Given the description of an element on the screen output the (x, y) to click on. 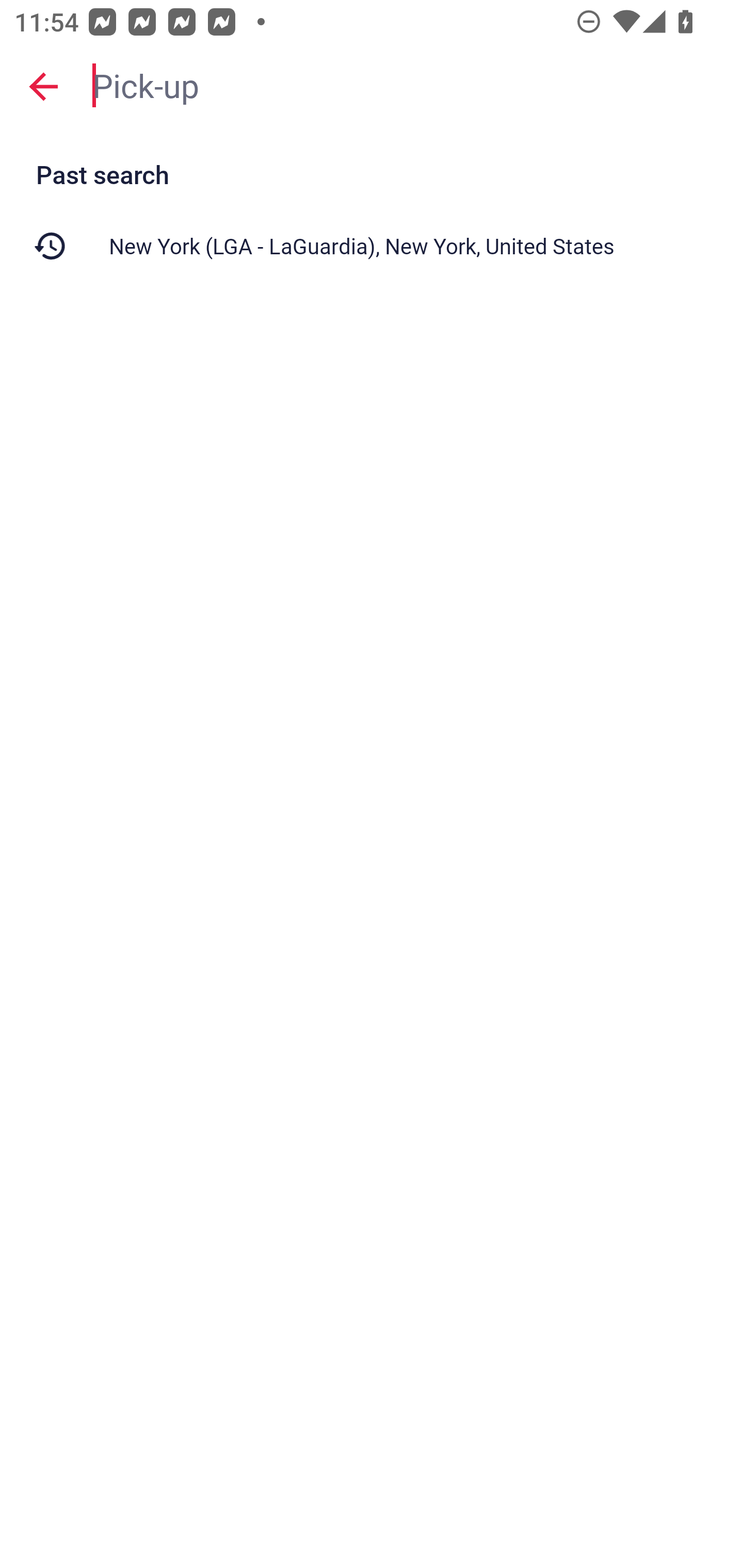
Pick-up,  (407, 85)
Close search screen (43, 86)
